Given the description of an element on the screen output the (x, y) to click on. 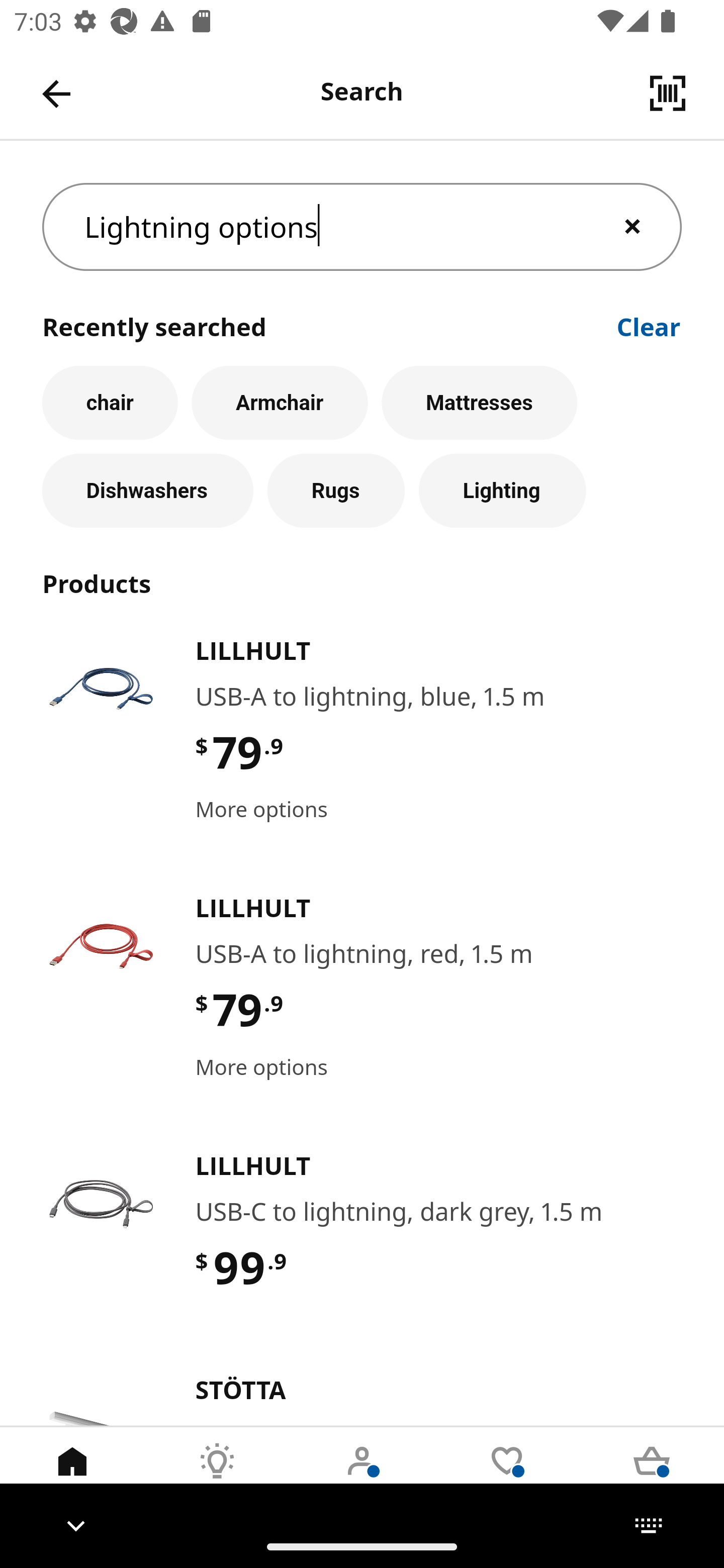
Lightning options (361, 227)
Clear (649, 324)
chair (109, 402)
Armchair (279, 402)
Mattresses (479, 402)
Dishwashers (147, 490)
Rugs (335, 490)
Lighting (502, 490)
Home
Tab 1 of 5 (72, 1476)
Inspirations
Tab 2 of 5 (216, 1476)
User
Tab 3 of 5 (361, 1476)
Wishlist
Tab 4 of 5 (506, 1476)
Cart
Tab 5 of 5 (651, 1476)
